Given the description of an element on the screen output the (x, y) to click on. 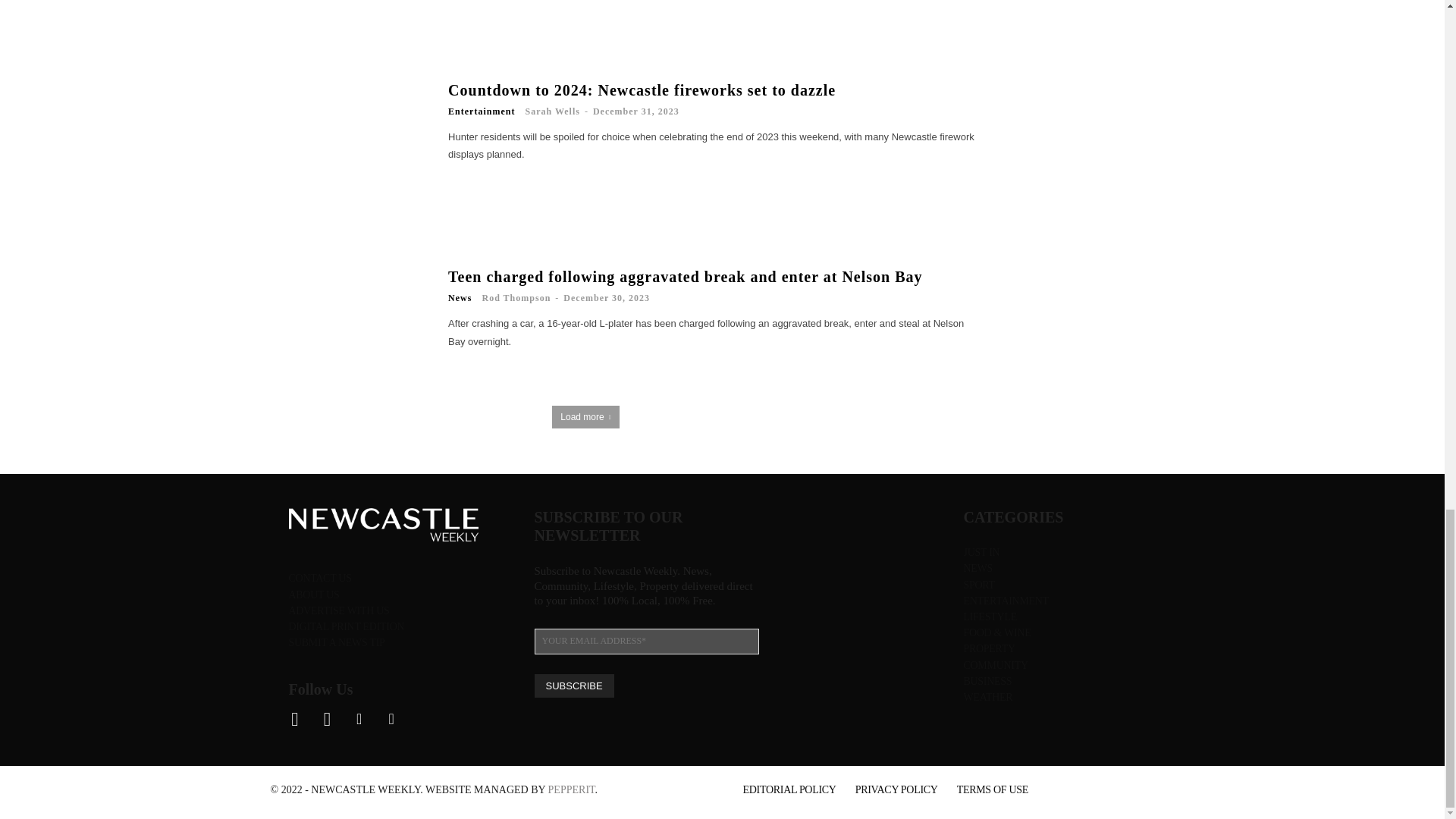
SUBSCRIBE (573, 685)
